Given the description of an element on the screen output the (x, y) to click on. 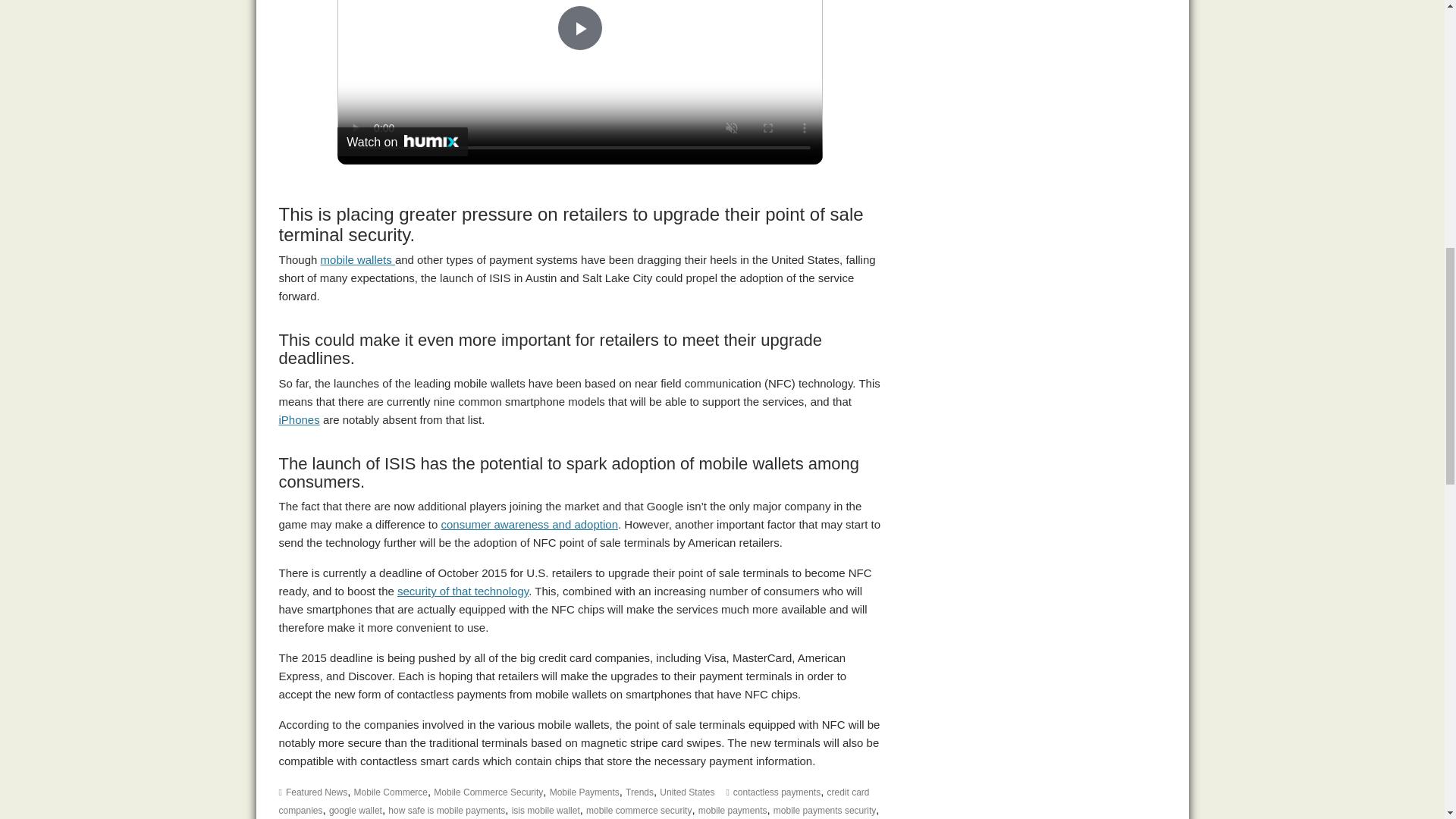
Mobile commerce security (462, 590)
Mobile payments may be slow to adopt is US (357, 259)
Mobile payments for iphone  (299, 419)
Play Video (579, 27)
